Given the description of an element on the screen output the (x, y) to click on. 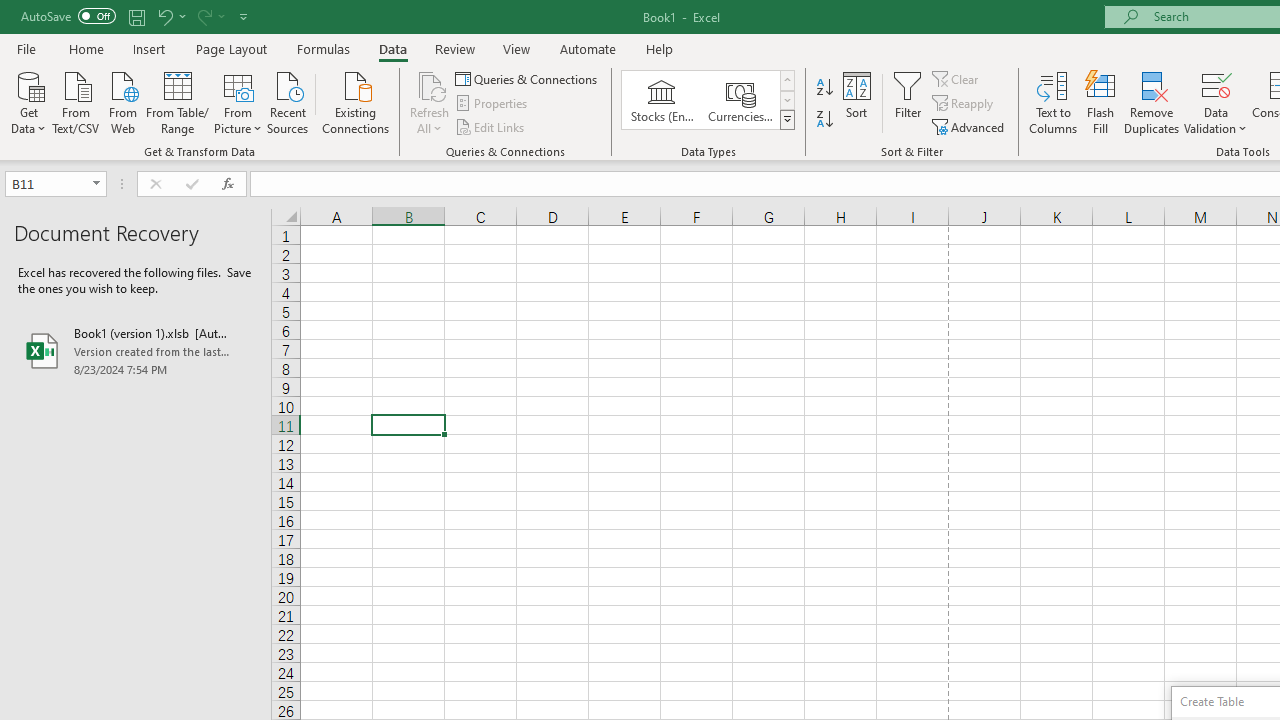
Properties (492, 103)
Remove Duplicates (1151, 102)
Get Data (28, 101)
File Tab (26, 48)
Home (86, 48)
Help (660, 48)
Data Validation... (1215, 102)
Data (392, 48)
AutomationID: ConvertToLinkedEntity (708, 99)
Refresh All (429, 102)
From Picture (238, 101)
Recent Sources (287, 101)
Automate (588, 48)
